Given the description of an element on the screen output the (x, y) to click on. 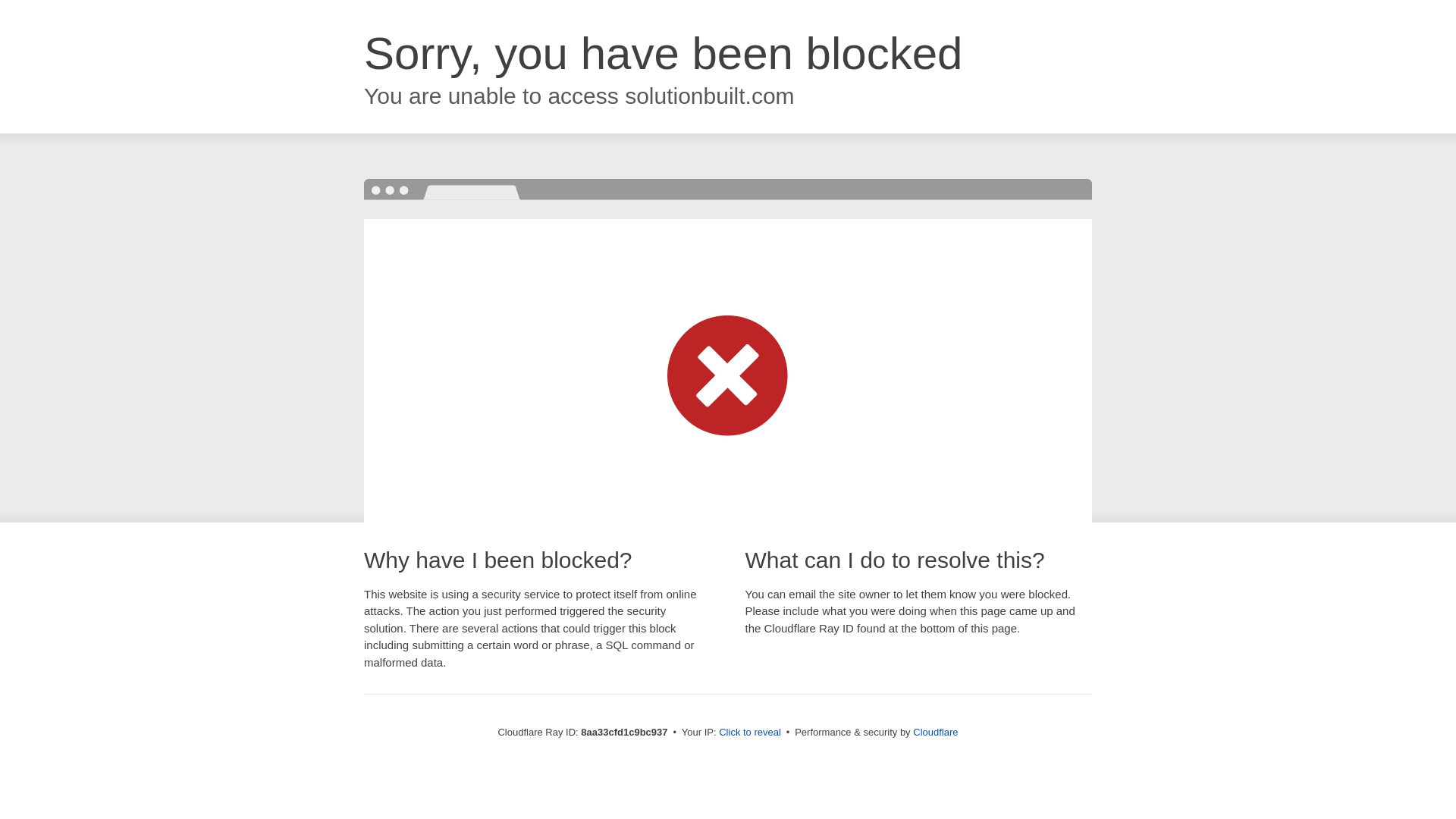
Cloudflare (935, 731)
Click to reveal (749, 732)
